Given the description of an element on the screen output the (x, y) to click on. 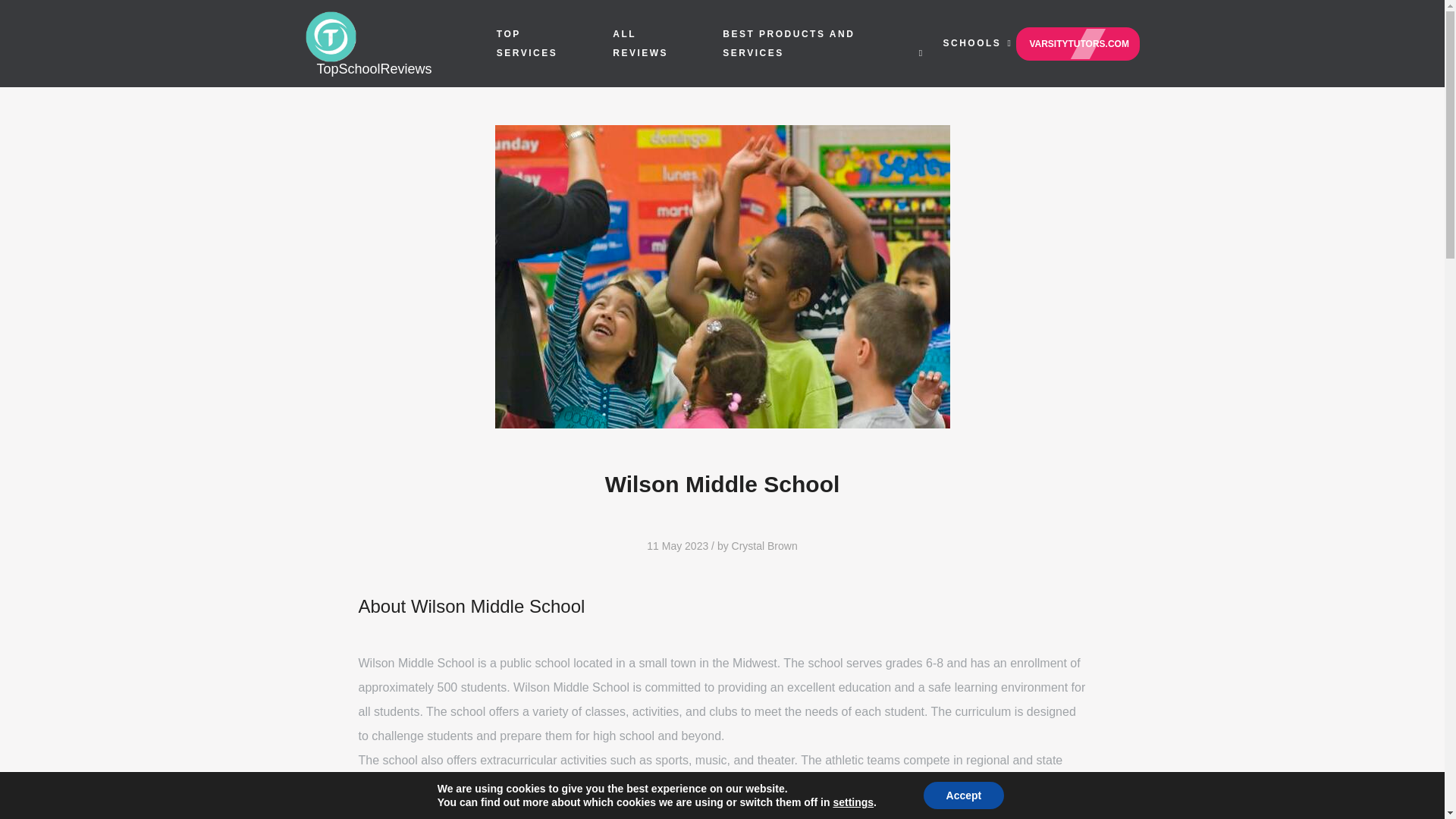
TOP SERVICES (526, 43)
BEST PRODUCTS AND SERVICES (788, 43)
SCHOOLS (972, 42)
TopSchoolReviews (392, 43)
VARSITYTUTORS.COM (1077, 43)
ALL REVIEWS (640, 43)
